Given the description of an element on the screen output the (x, y) to click on. 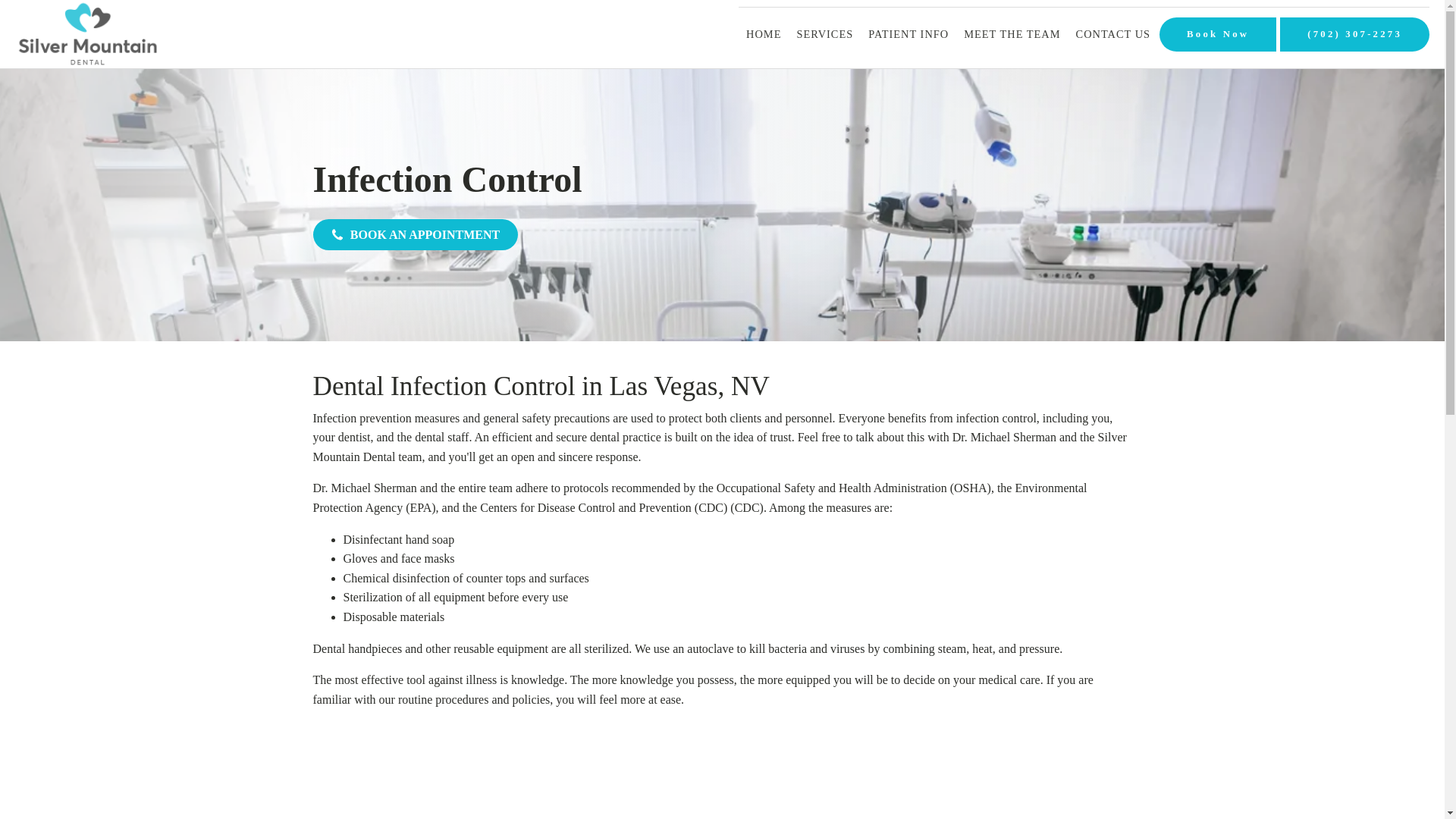
PATIENT INFO (908, 34)
Book Now (1217, 34)
HOME (763, 34)
SERVICES (824, 34)
CONTACT US (1113, 34)
MEET THE TEAM (1011, 34)
BOOK AN APPOINTMENT (414, 234)
